Given the description of an element on the screen output the (x, y) to click on. 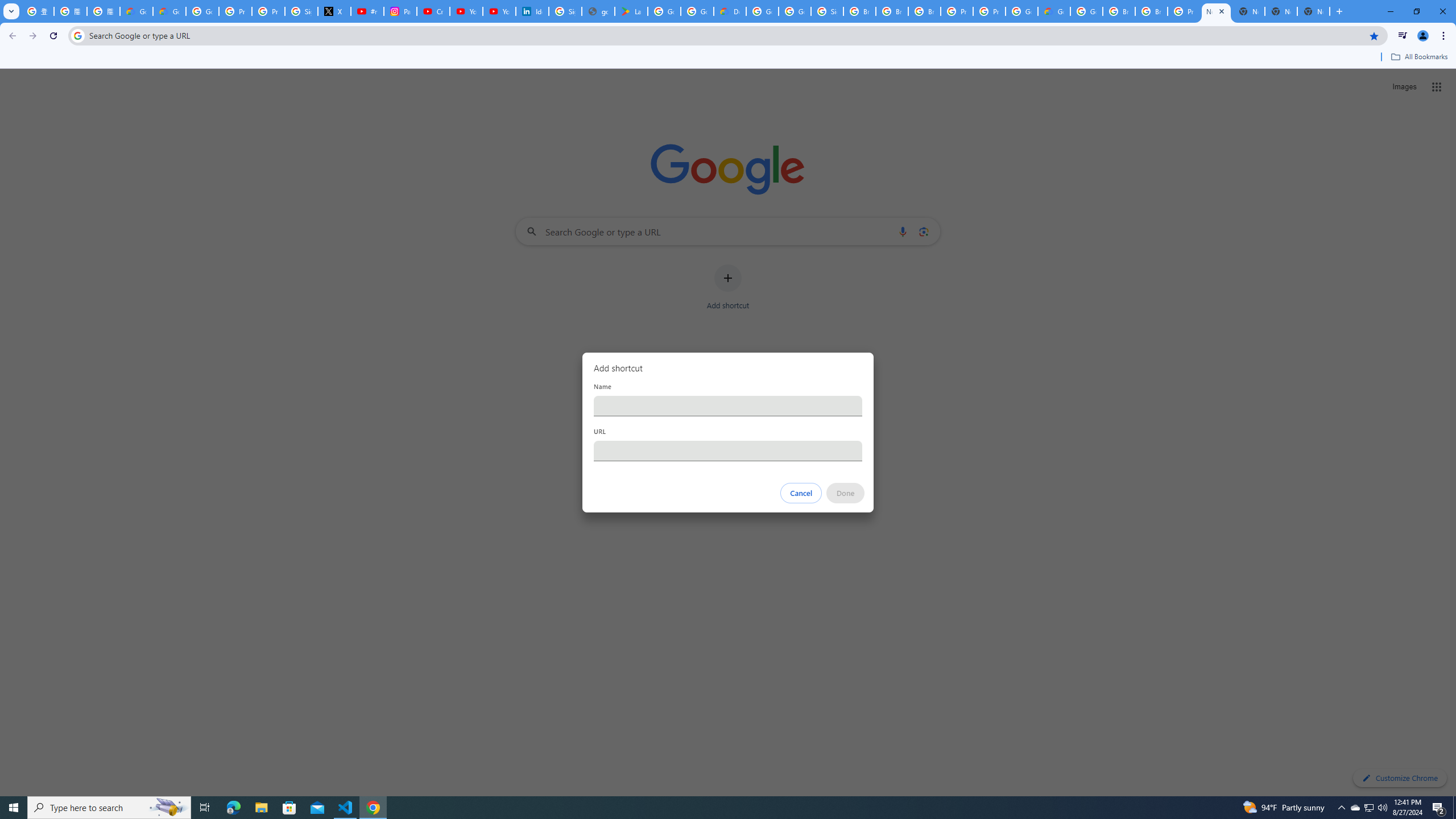
Google Cloud Platform (1086, 11)
Name (727, 405)
URL (727, 450)
